Given the description of an element on the screen output the (x, y) to click on. 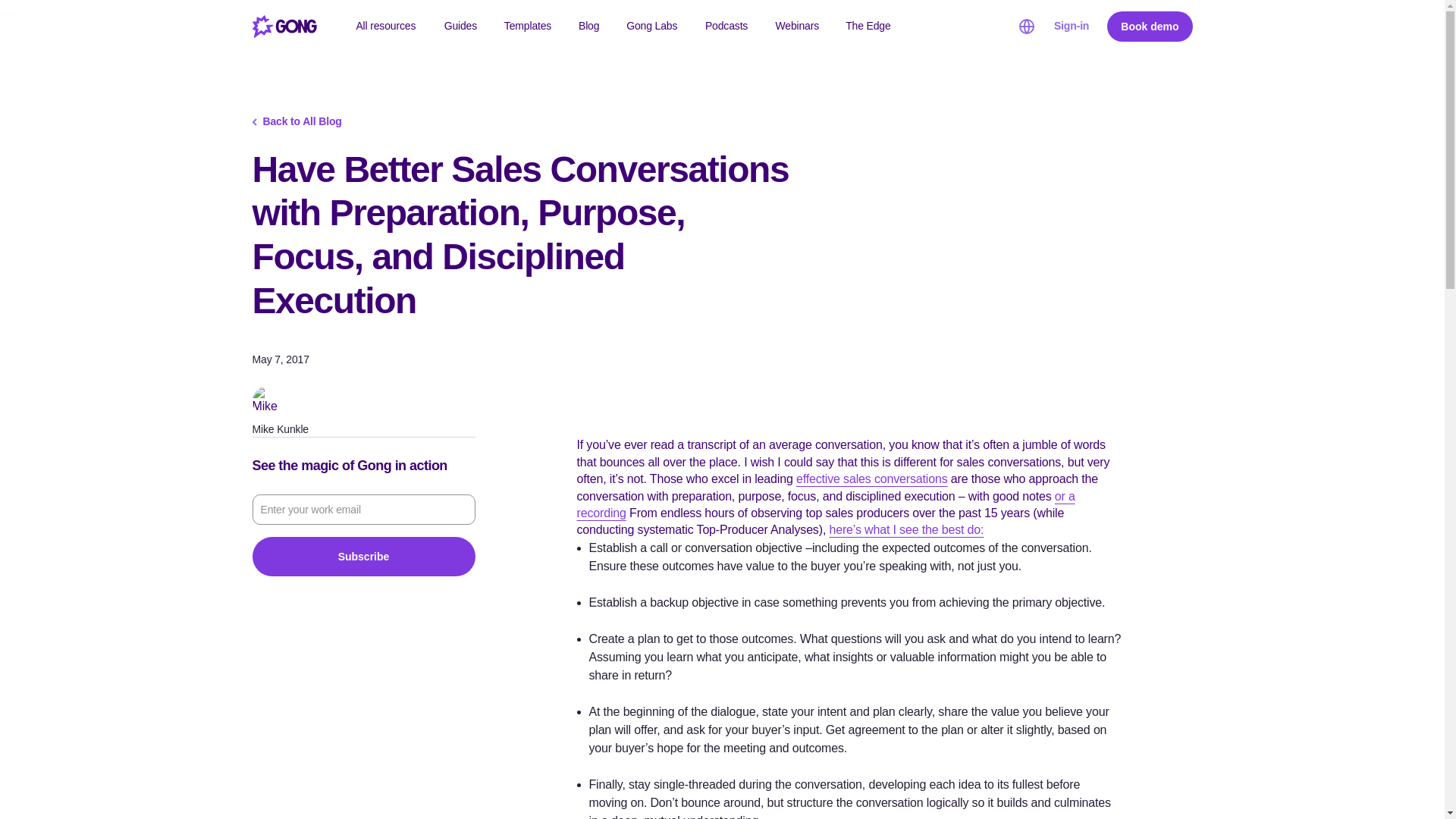
Gong Labs (651, 26)
Back to All Blog (301, 121)
Guides (460, 26)
The Edge (868, 26)
Book demo (1149, 26)
Sign-in (1071, 25)
effective sales conversations (871, 478)
Subscribe (362, 556)
Webinars (796, 26)
Home (283, 26)
Templates (528, 26)
Podcasts (726, 26)
or a recording (825, 504)
All resources (385, 26)
